Given the description of an element on the screen output the (x, y) to click on. 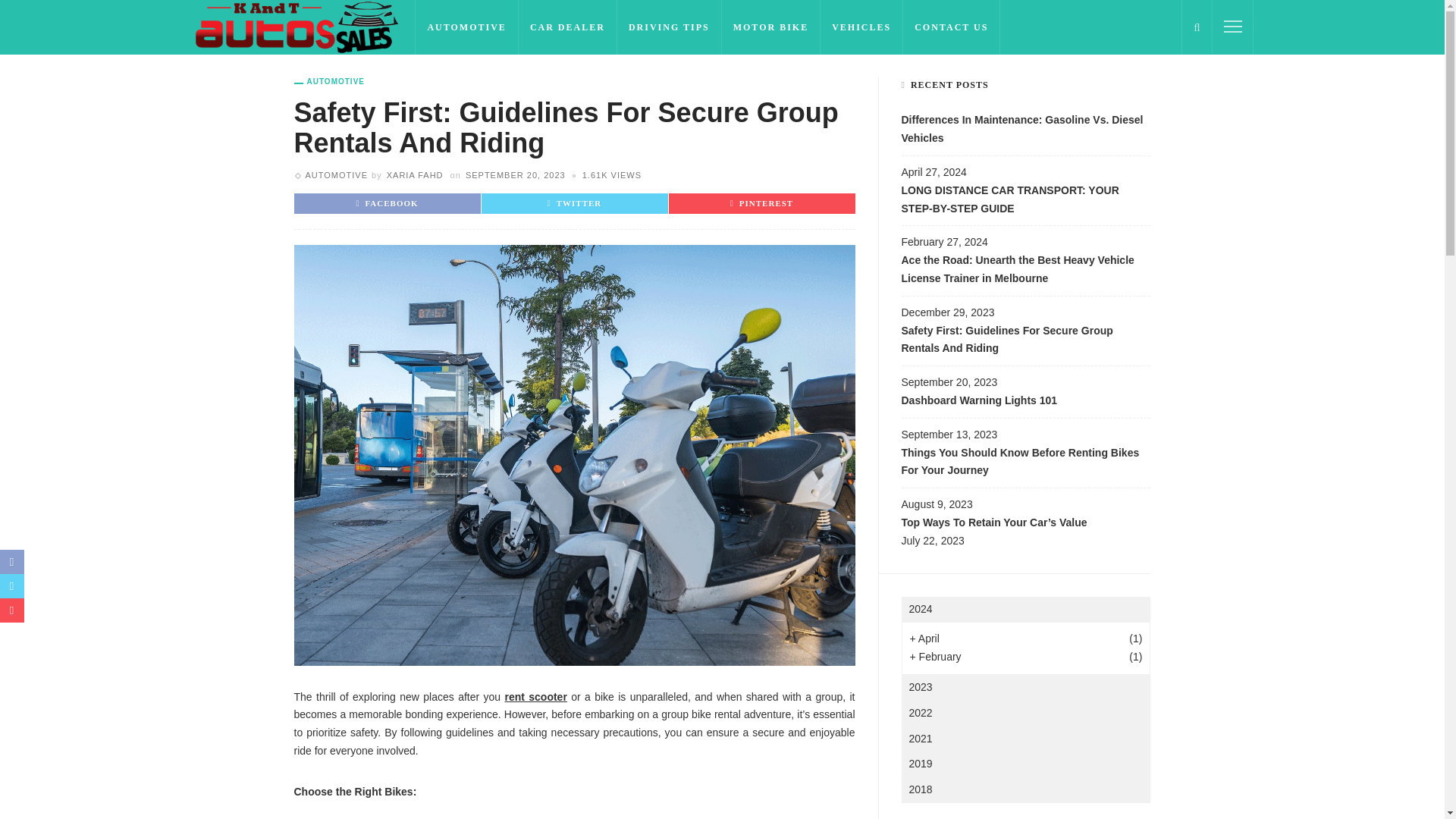
AUTOMOTIVE (336, 174)
MOTOR BIKE (771, 27)
FACEBOOK (386, 203)
Safety First: Guidelines For Secure Group Rentals And Riding (612, 174)
CAR DEALER (567, 27)
rent scooter (534, 696)
Automotive (329, 81)
PINTEREST (761, 203)
CONTACT US (951, 27)
XARIA FAHD (415, 174)
AUTOMOTIVE (466, 27)
TWITTER (574, 203)
1.61K VIEWS (612, 174)
AUTOMOTIVE (329, 81)
VEHICLES (861, 27)
